Given the description of an element on the screen output the (x, y) to click on. 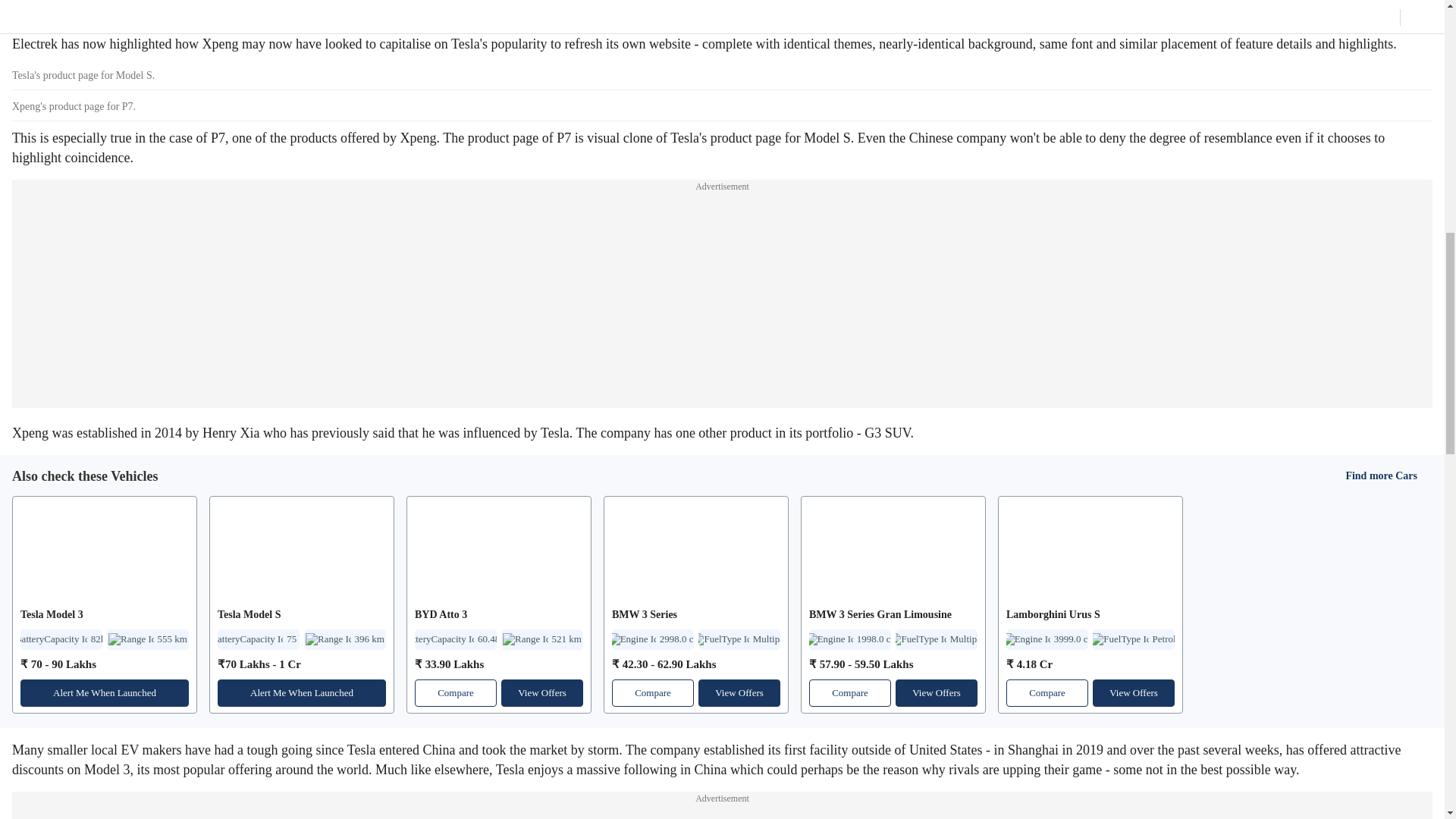
Engine (652, 639)
Range (541, 639)
BatteryCapacity (257, 639)
Engine (850, 639)
FuelType (1133, 639)
BatteryCapacity (455, 639)
Range (344, 639)
FuelType (739, 639)
BatteryCapacity (60, 639)
FuelType (935, 639)
